Given the description of an element on the screen output the (x, y) to click on. 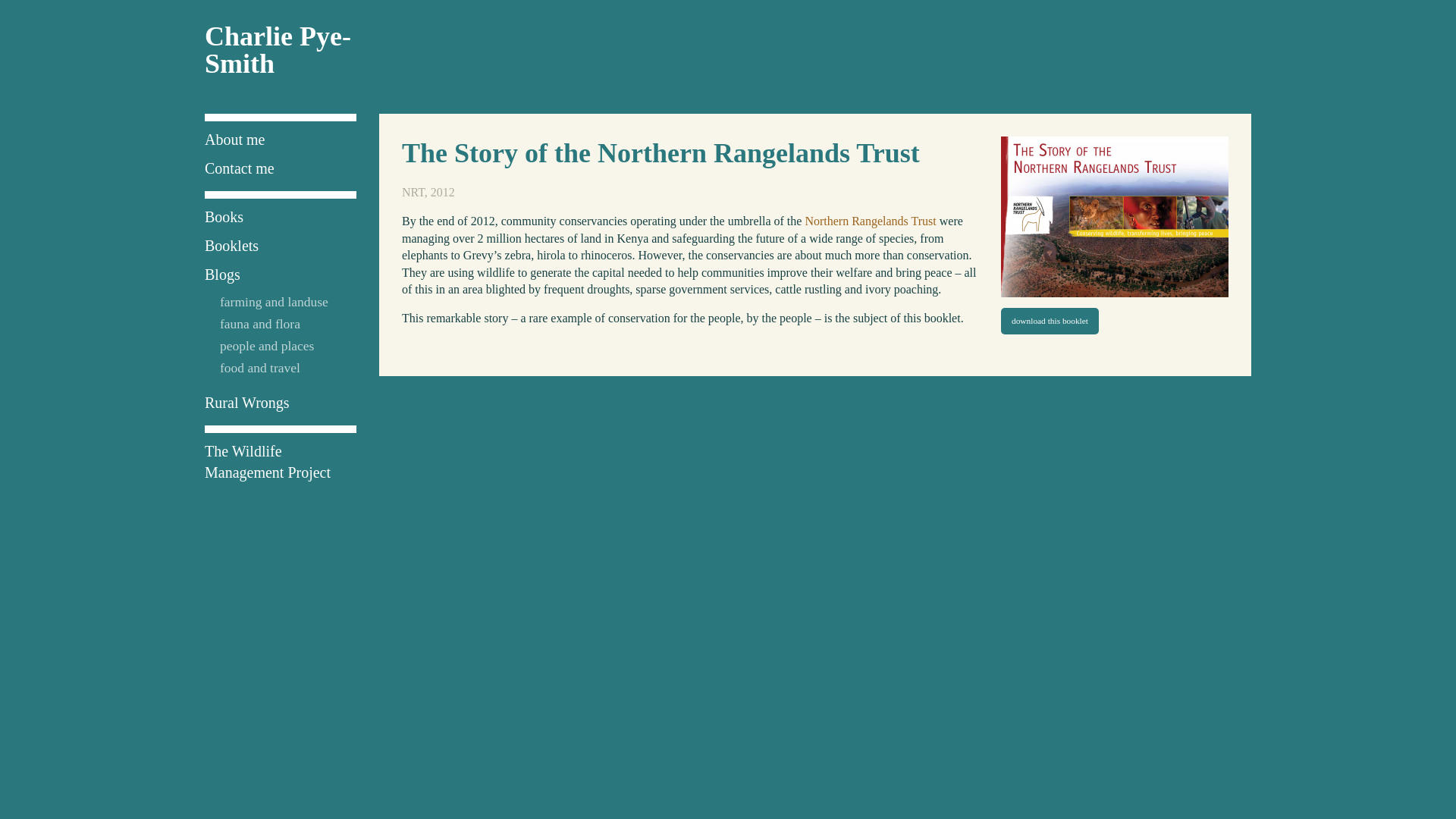
About me (234, 139)
fauna and flora (259, 323)
Booklets (232, 245)
Contact me (240, 167)
farming and landuse (274, 301)
food and travel (259, 367)
Blogs (222, 274)
Charlie Pye-Smith (277, 49)
The Wildlife Management Project (267, 461)
Rural Wrongs (247, 402)
